Given the description of an element on the screen output the (x, y) to click on. 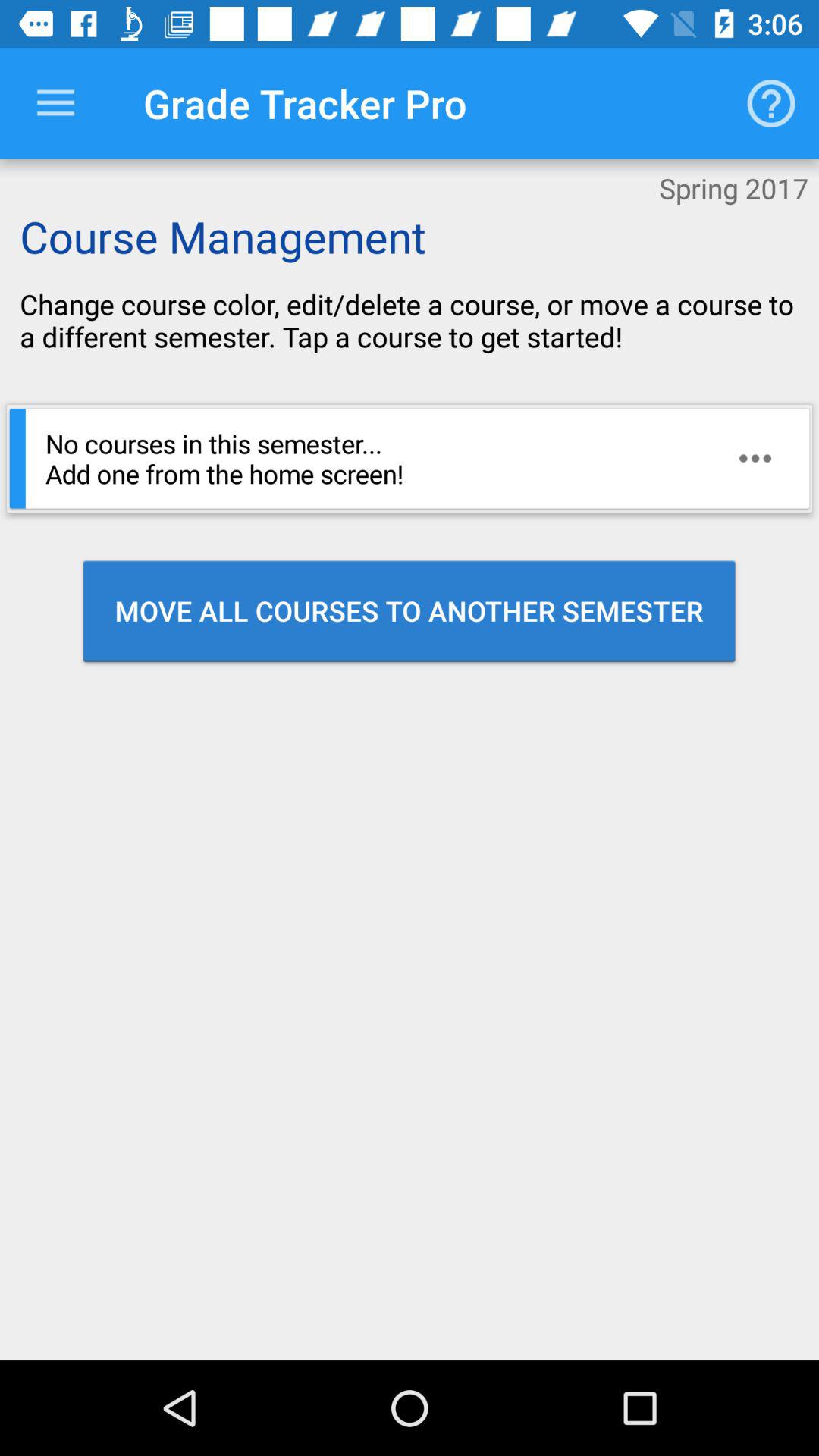
press icon next to grade tracker pro icon (55, 103)
